Given the description of an element on the screen output the (x, y) to click on. 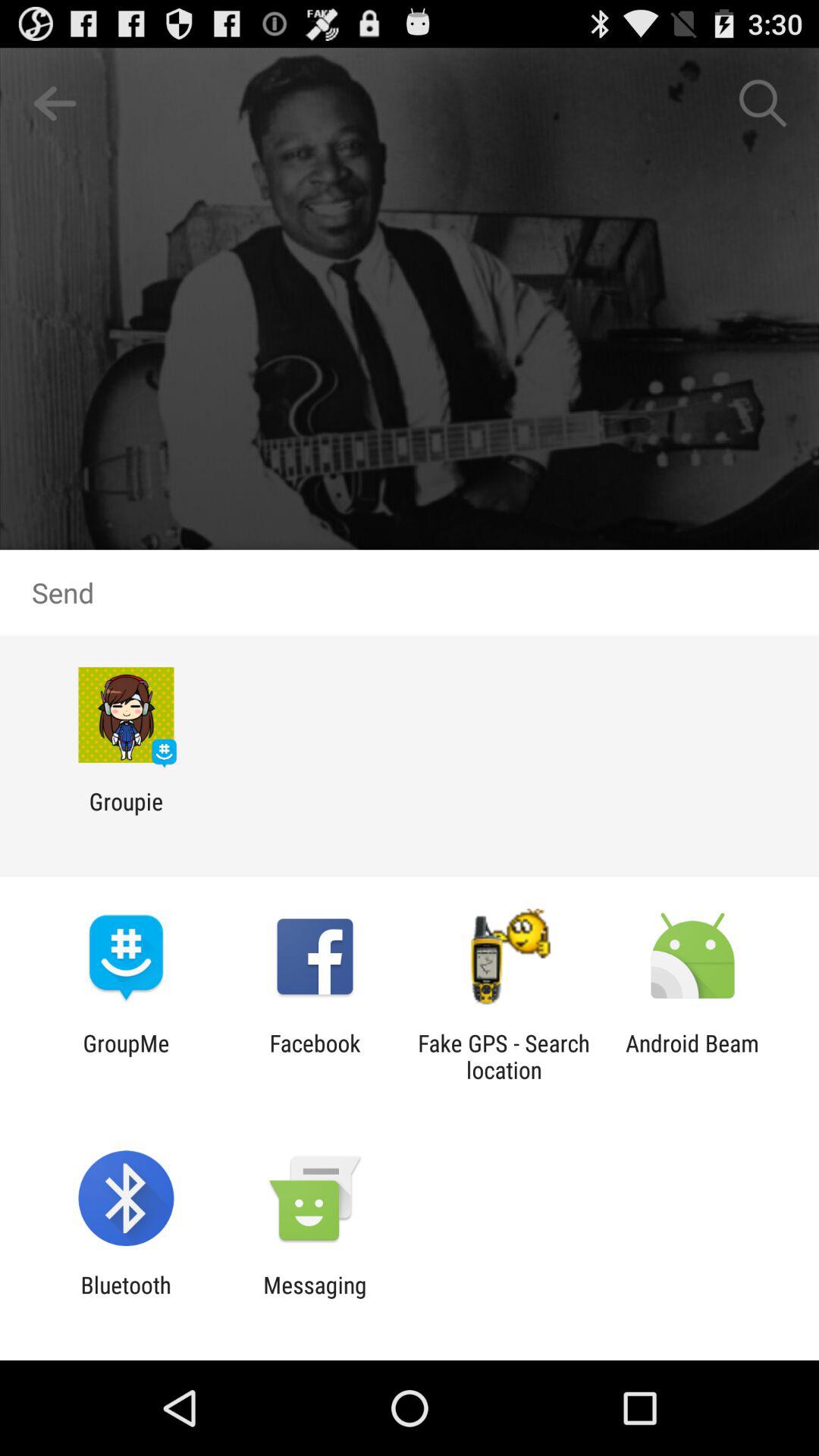
click icon next to the bluetooth app (314, 1298)
